Given the description of an element on the screen output the (x, y) to click on. 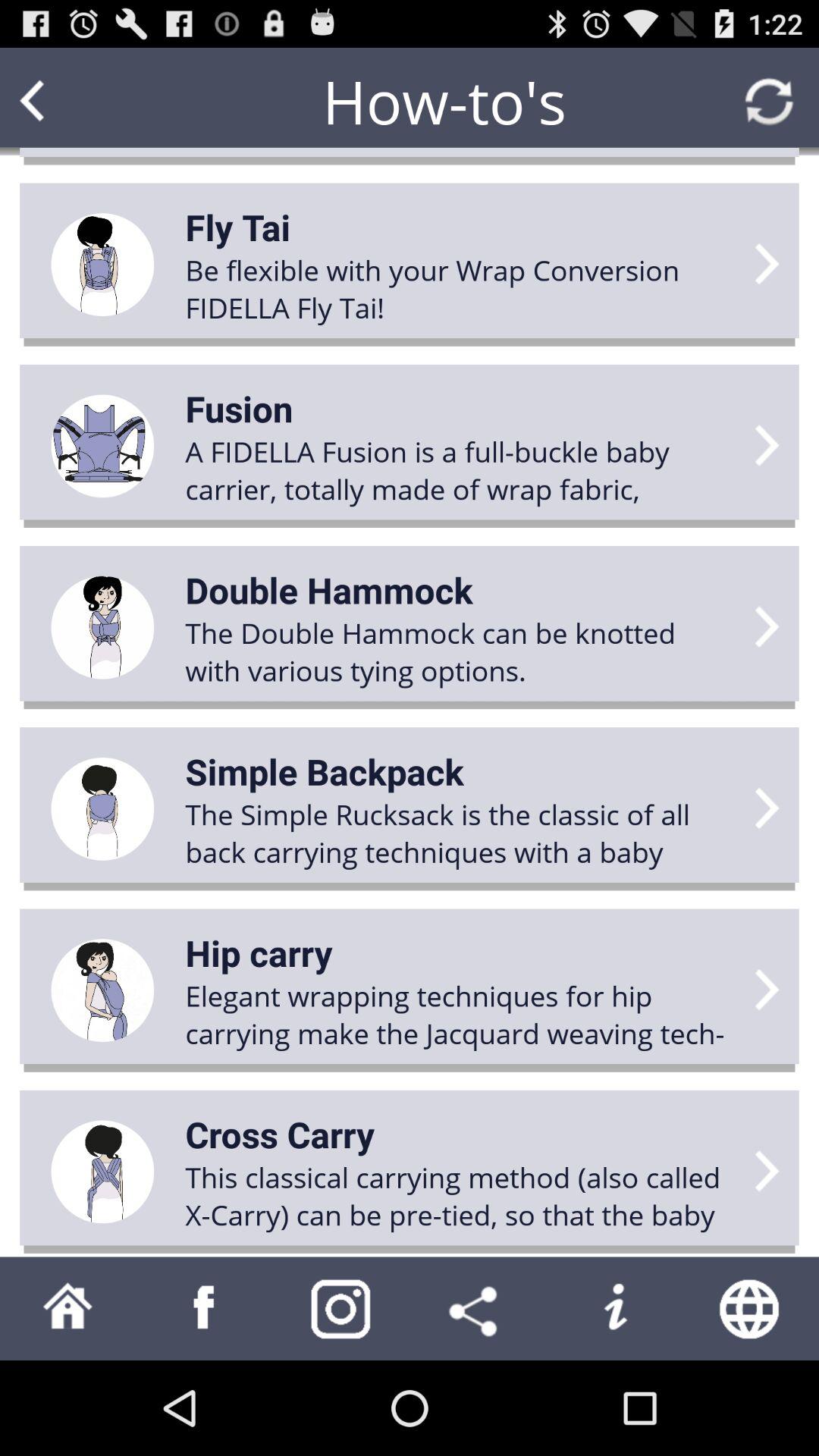
press the simple backpack item (324, 771)
